Given the description of an element on the screen output the (x, y) to click on. 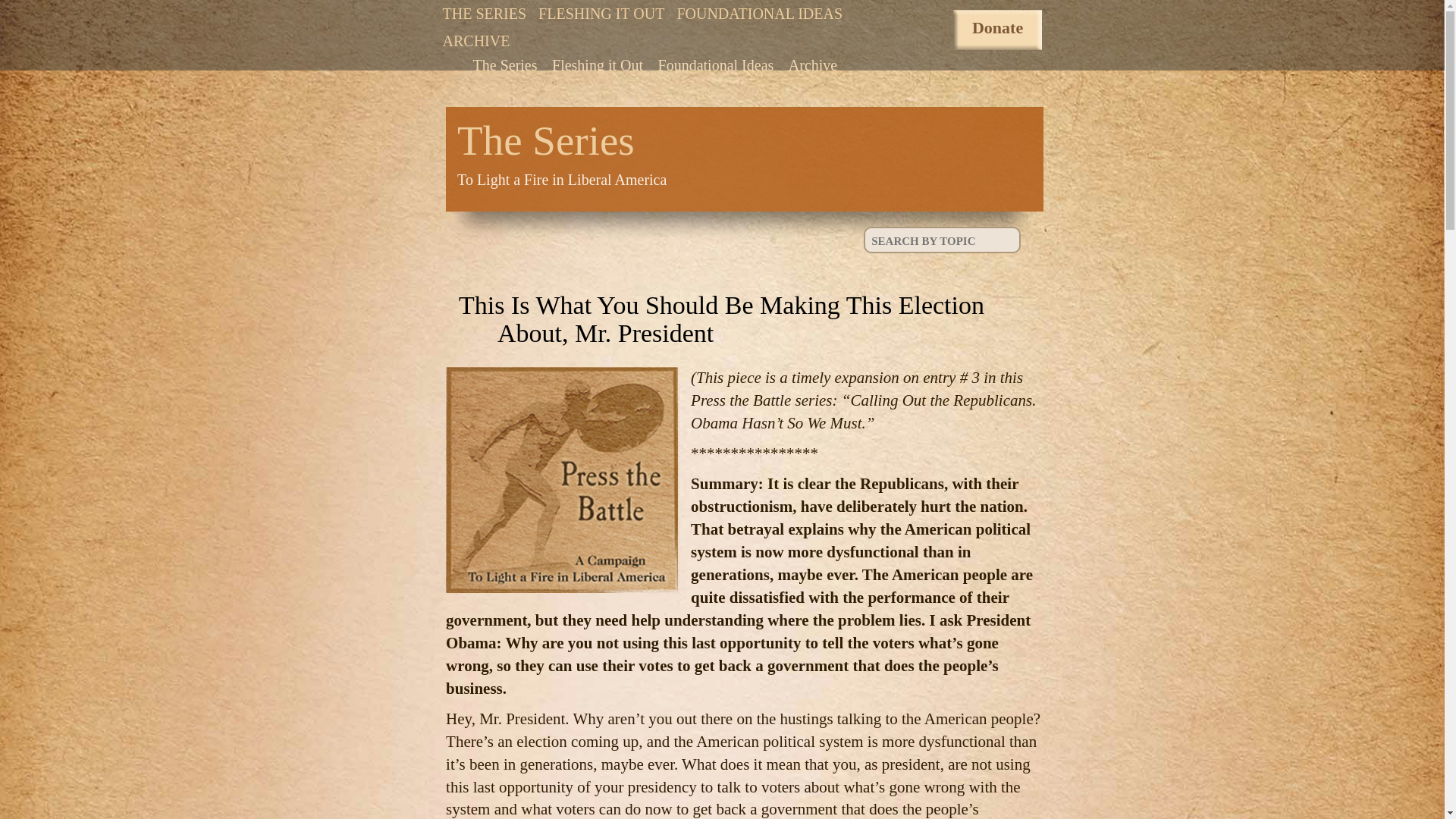
THE SERIES (484, 13)
Foundational Ideas (716, 65)
Fleshing it Out (597, 65)
The Series (722, 159)
FOUNDATIONAL IDEAS (505, 65)
FLESHING IT OUT (758, 13)
ARCHIVE (600, 13)
Archive (476, 40)
